Given the description of an element on the screen output the (x, y) to click on. 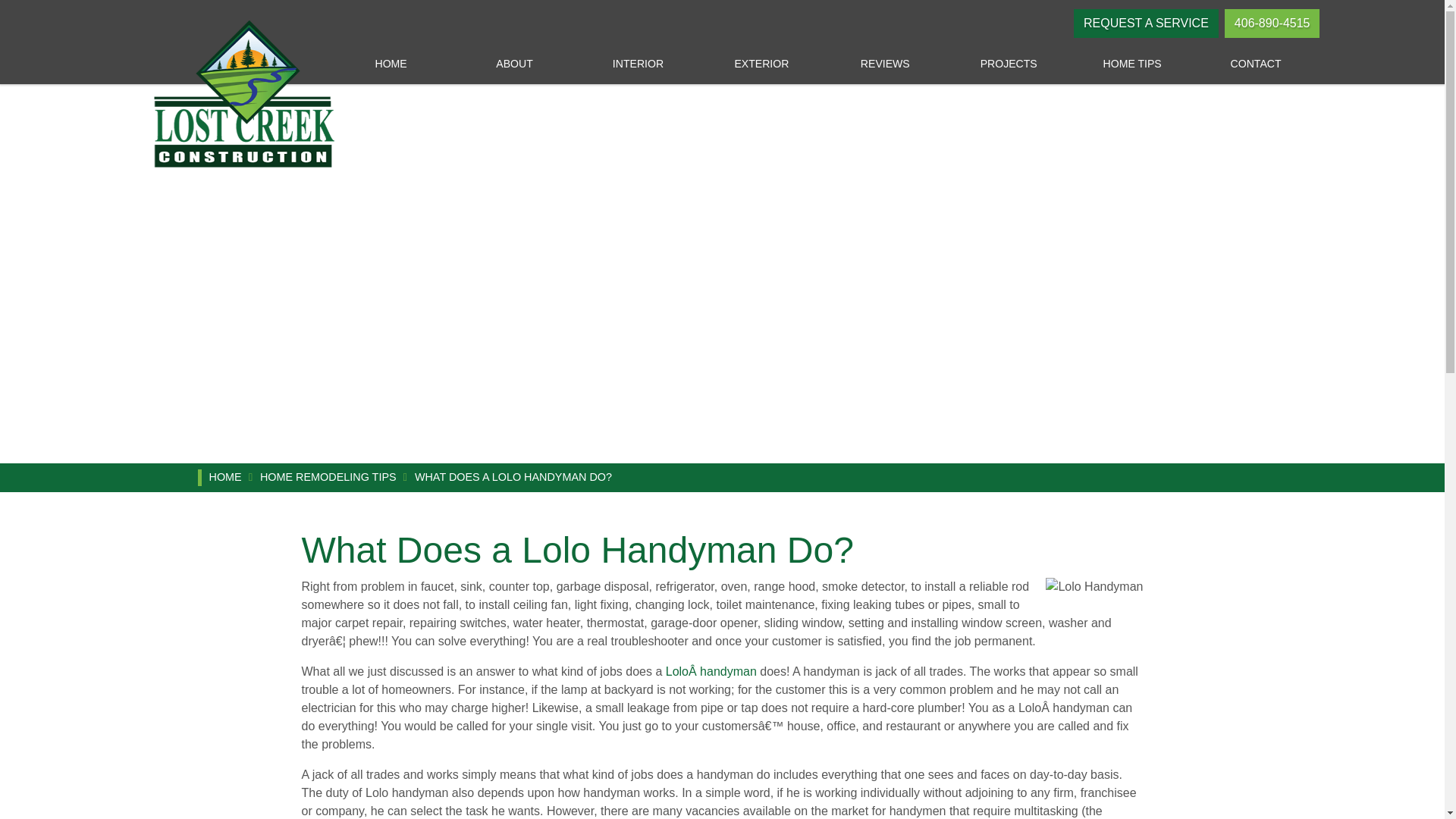
ABOUT (514, 63)
HOME (390, 63)
EXTERIOR (762, 63)
REQUEST A SERVICE (1146, 23)
INTERIOR (638, 63)
406-890-4515 (1272, 23)
